Given the description of an element on the screen output the (x, y) to click on. 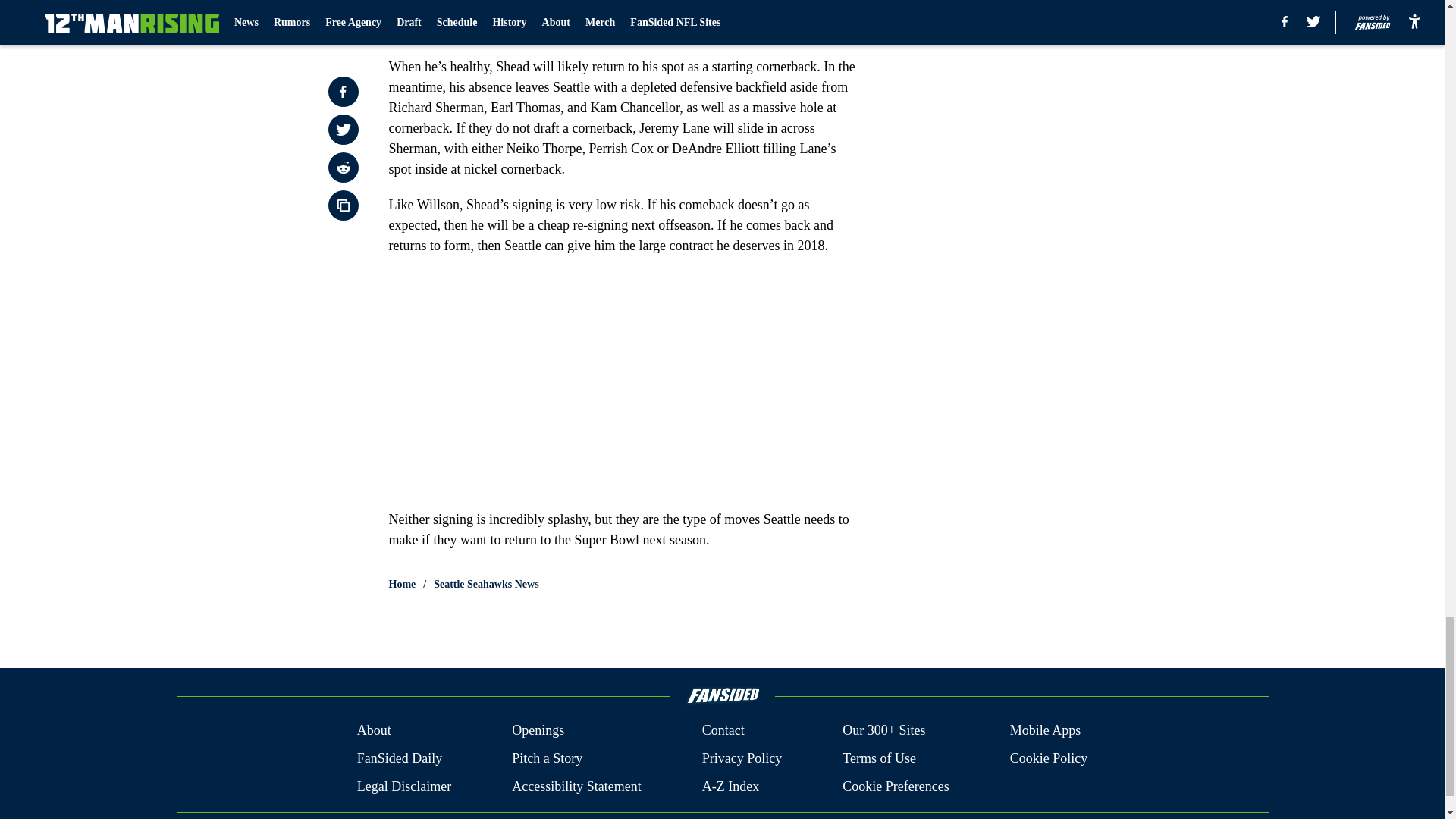
Home (401, 584)
FanSided Daily (399, 758)
Accessibility Statement (576, 786)
Privacy Policy (742, 758)
Terms of Use (879, 758)
Cookie Policy (1048, 758)
A-Z Index (729, 786)
About (373, 730)
Legal Disclaimer (403, 786)
Contact (722, 730)
